Given the description of an element on the screen output the (x, y) to click on. 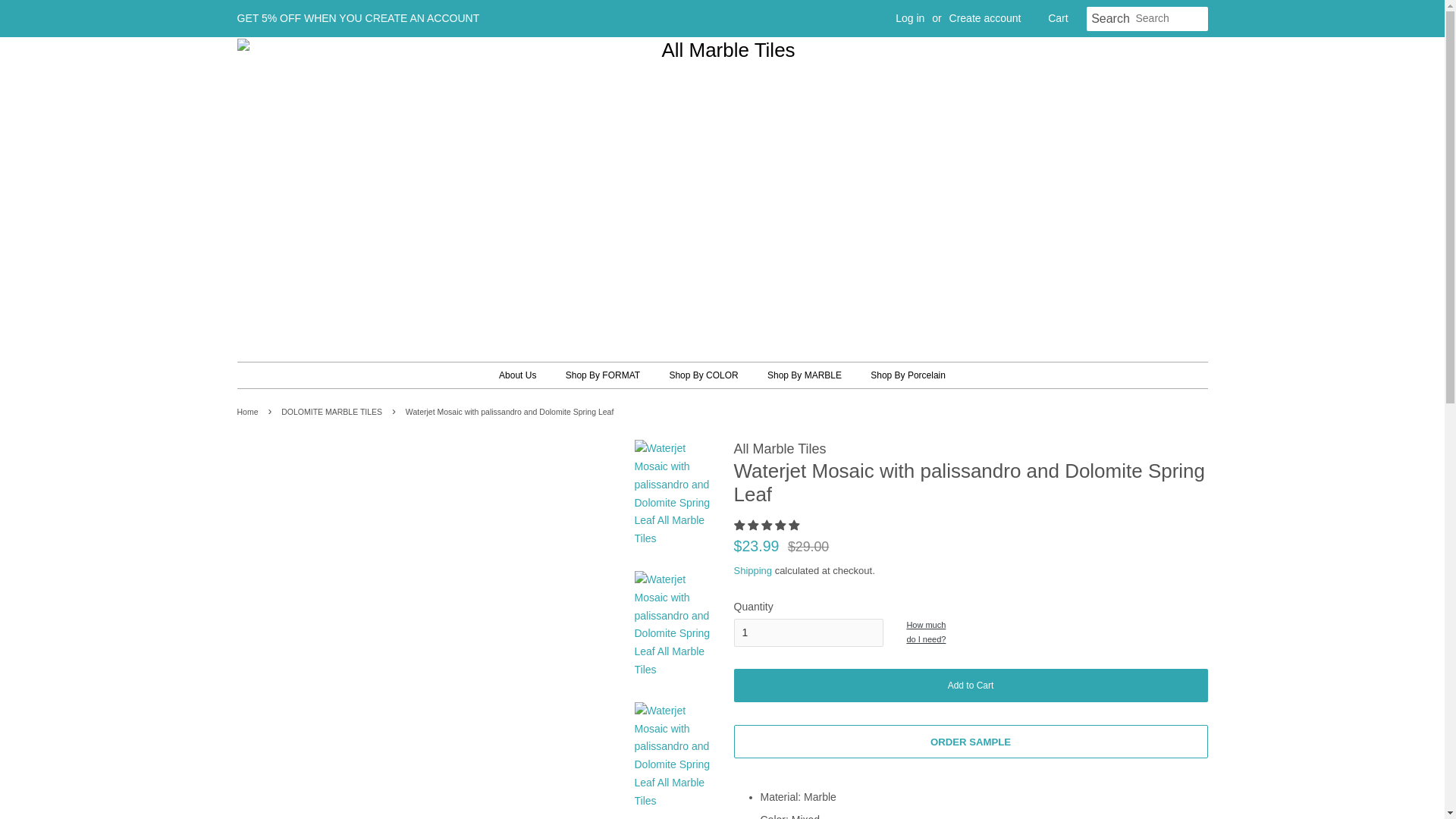
Log in (909, 18)
1 (808, 633)
Cart (1057, 18)
Back to the frontpage (248, 411)
Create account (985, 18)
Search (1110, 18)
